Given the description of an element on the screen output the (x, y) to click on. 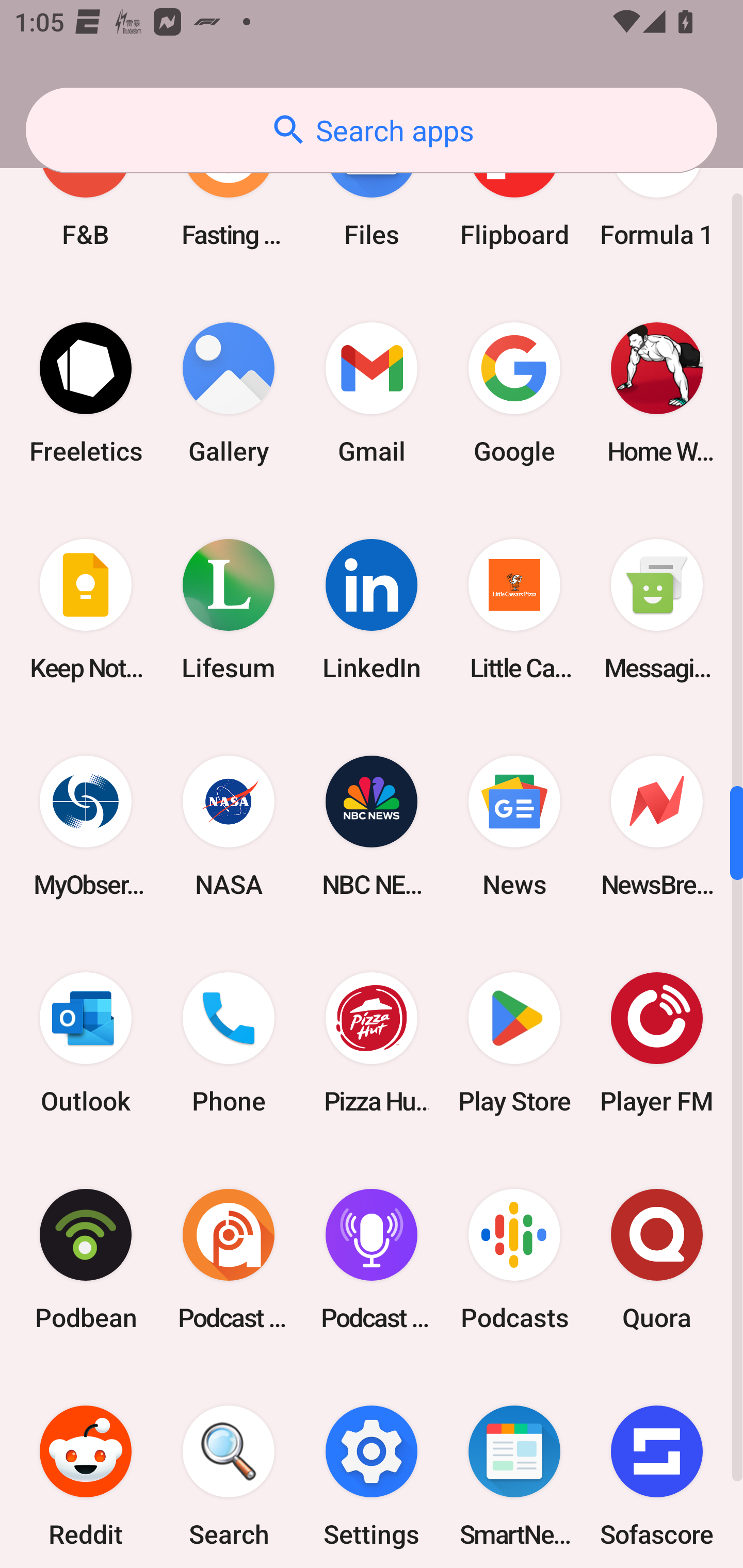
  Search apps (371, 130)
Freeletics (85, 393)
Gallery (228, 393)
Gmail (371, 393)
Google (514, 393)
Home Workout (656, 393)
Keep Notes (85, 609)
Lifesum (228, 609)
LinkedIn (371, 609)
Little Caesars Pizza (514, 609)
Messaging (656, 609)
MyObservatory (85, 826)
NASA (228, 826)
NBC NEWS (371, 826)
News (514, 826)
NewsBreak (656, 826)
Outlook (85, 1042)
Phone (228, 1042)
Pizza Hut HK & Macau (371, 1042)
Play Store (514, 1042)
Player FM (656, 1042)
Podbean (85, 1258)
Podcast Addict (228, 1258)
Podcast Player (371, 1258)
Podcasts (514, 1258)
Quora (656, 1258)
Reddit (85, 1467)
Search (228, 1467)
Settings (371, 1467)
SmartNews (514, 1467)
Sofascore (656, 1467)
